Given the description of an element on the screen output the (x, y) to click on. 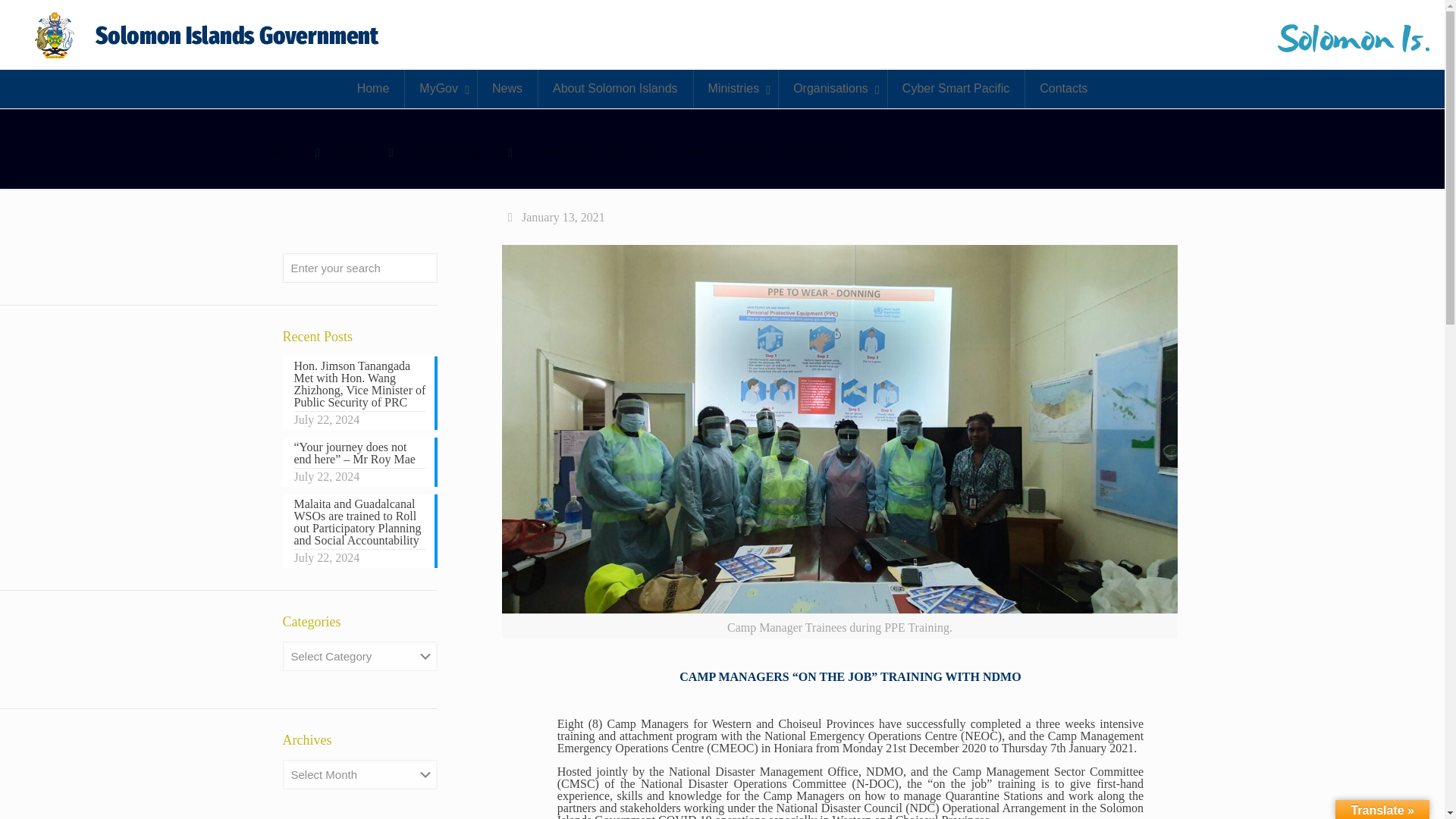
Home (373, 88)
My SIG Services Portal (208, 34)
MyGov (440, 88)
News (507, 88)
Ministries (735, 88)
About Solomon Islands (615, 88)
Organisations (831, 88)
